Given the description of an element on the screen output the (x, y) to click on. 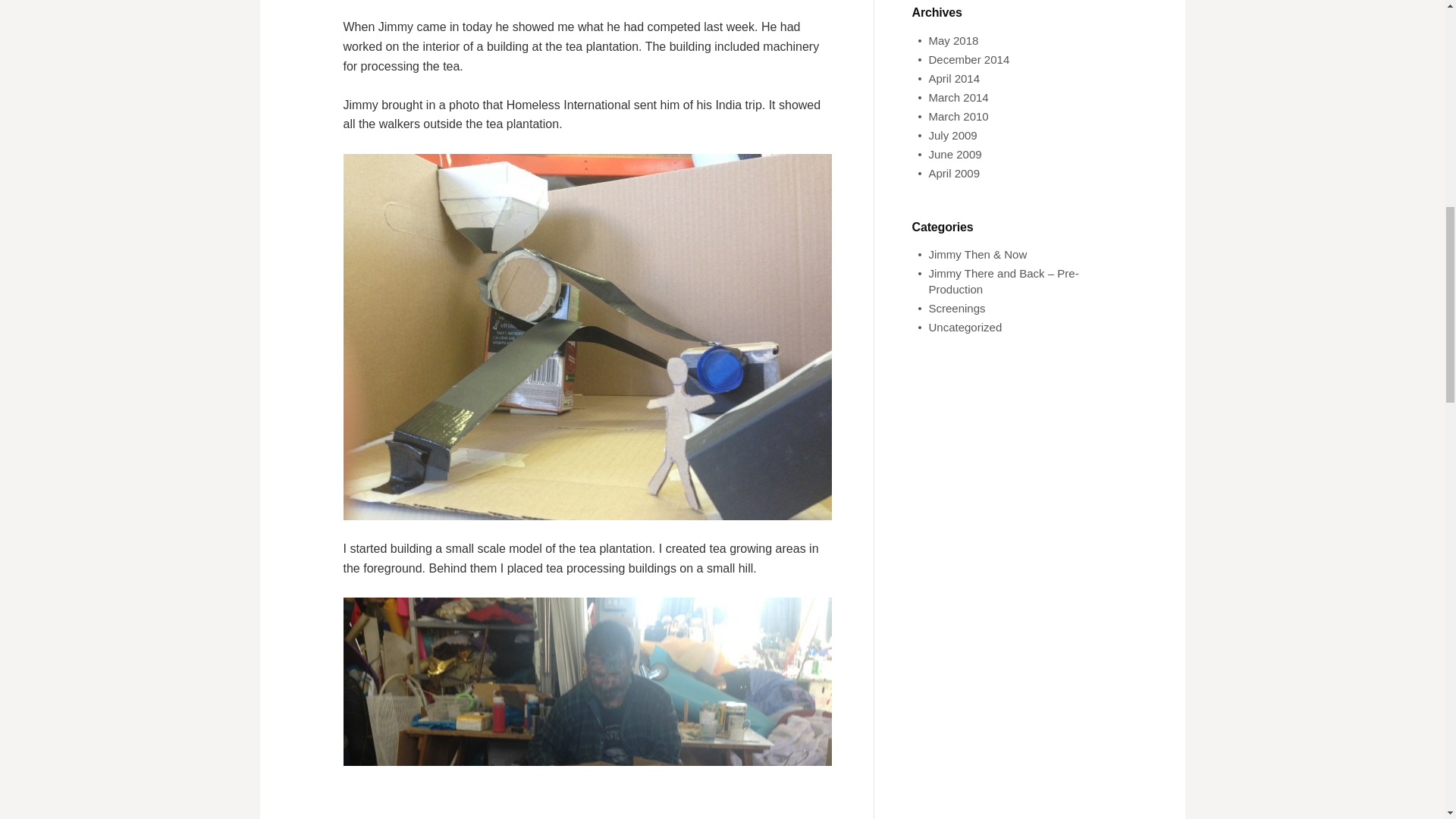
April 2014 (953, 78)
April 2009 (953, 173)
June 2009 (954, 154)
December 2014 (968, 59)
March 2014 (958, 97)
March 2010 (958, 115)
May 2018 (953, 40)
July 2009 (952, 134)
